Given the description of an element on the screen output the (x, y) to click on. 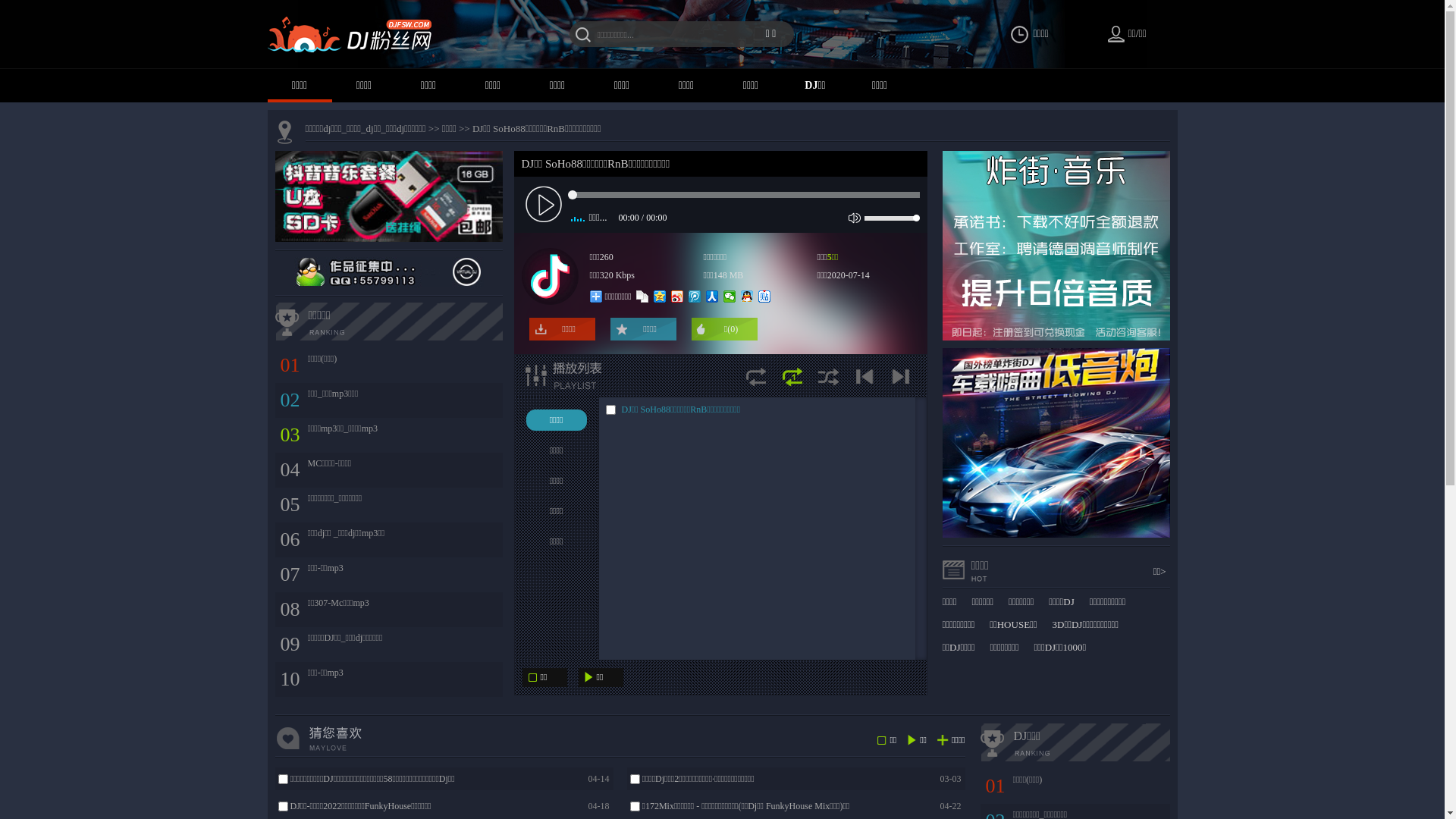
play Element type: text (543, 203)
mute Element type: text (853, 217)
